Given the description of an element on the screen output the (x, y) to click on. 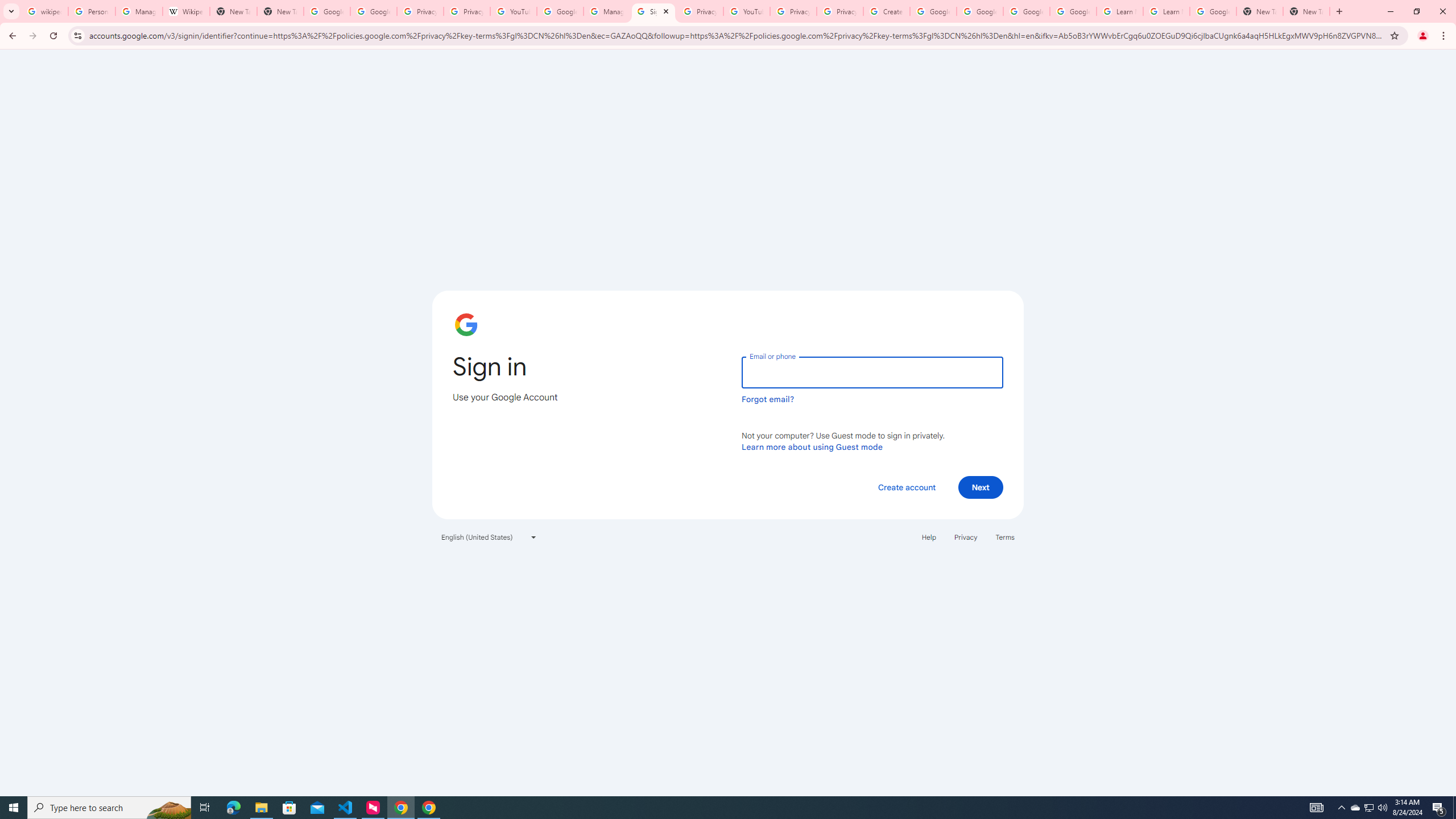
Create account (905, 486)
New Tab (1259, 11)
Google Account Help (980, 11)
